Given the description of an element on the screen output the (x, y) to click on. 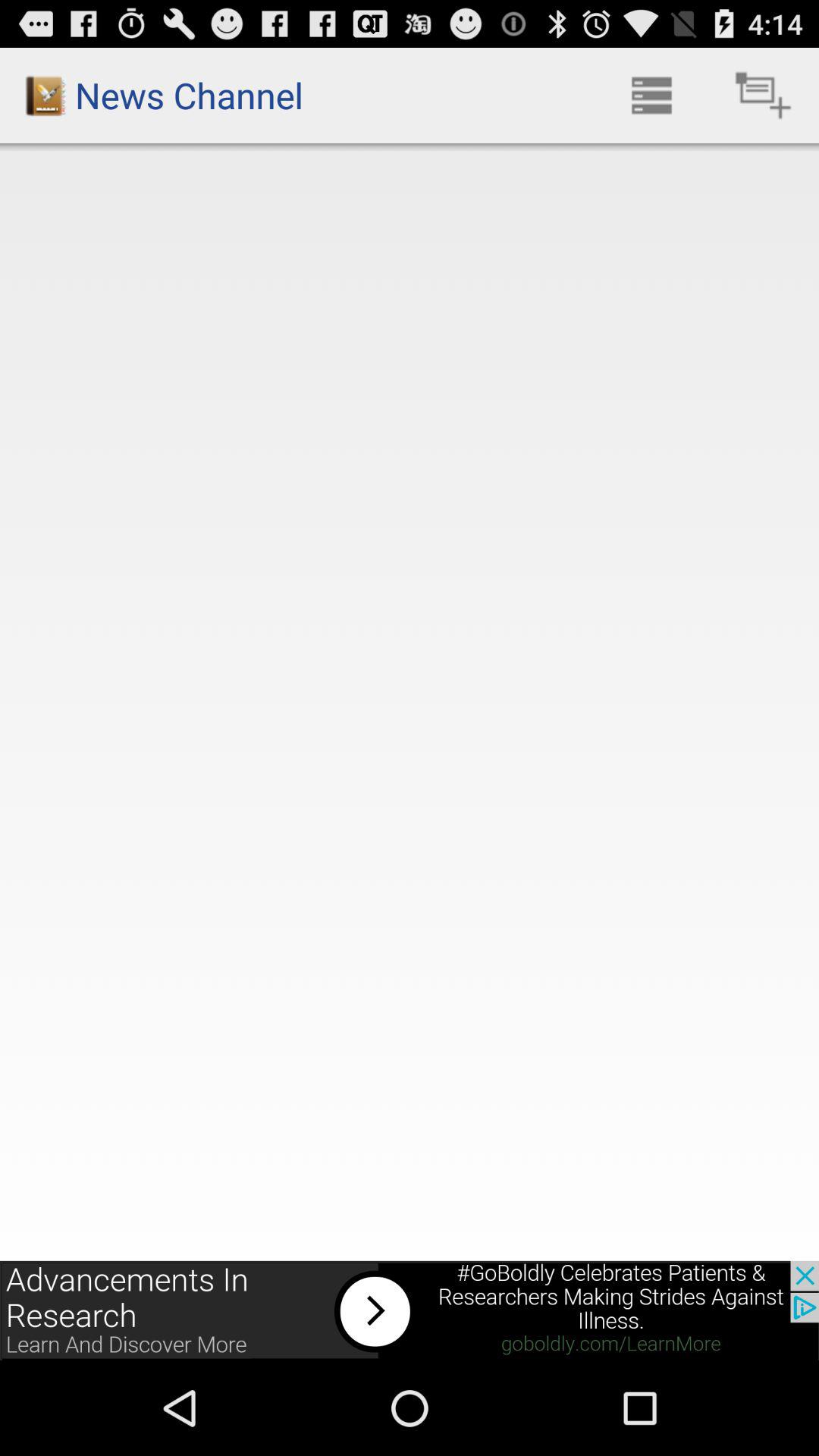
advertisement banner (409, 1310)
